Given the description of an element on the screen output the (x, y) to click on. 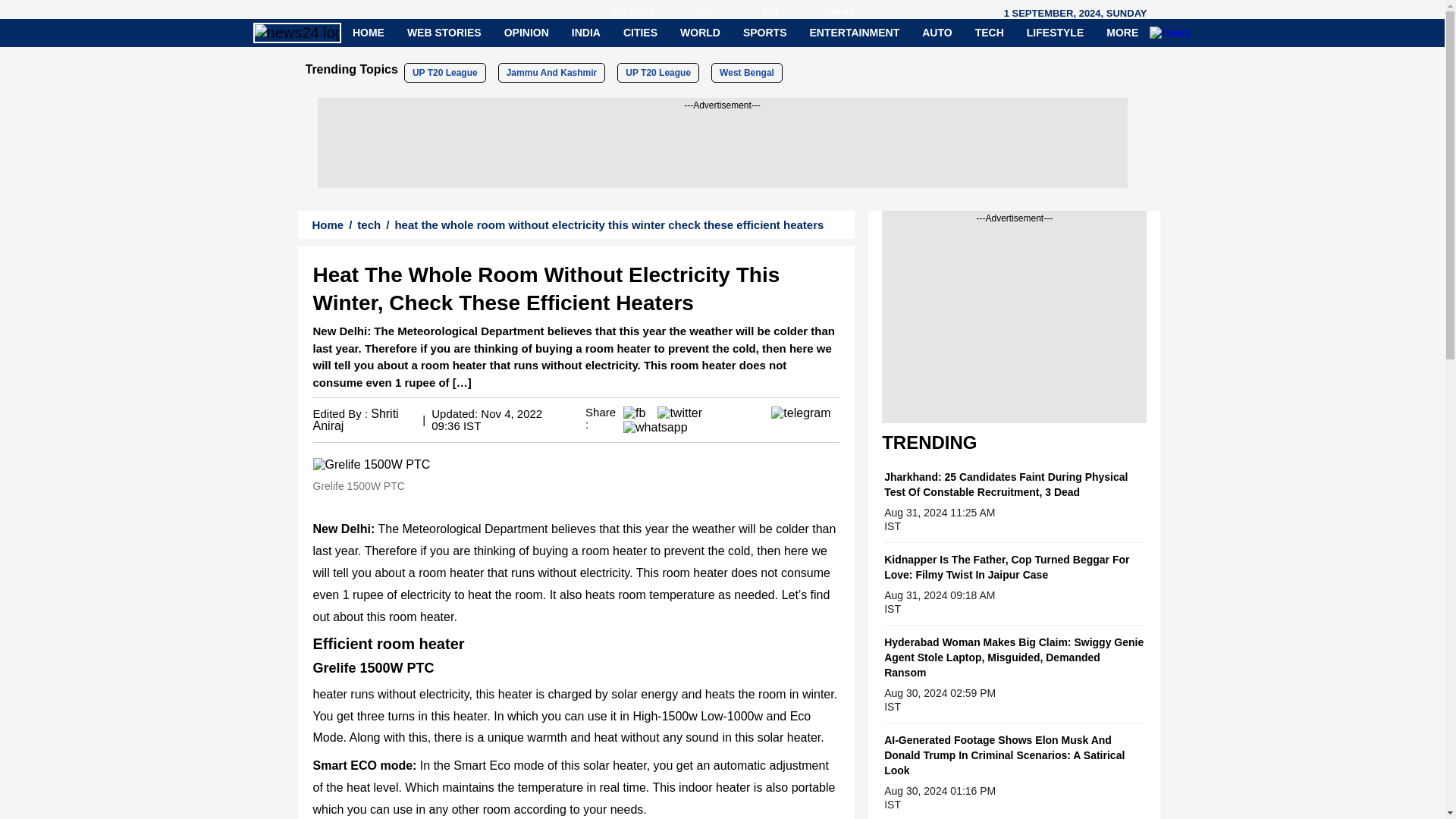
CITIES (639, 32)
heater (371, 464)
HOME (368, 32)
WORLD (700, 32)
INDIA (585, 32)
E24 (744, 4)
Isomes (814, 4)
ENGLISH (601, 4)
WEB STORIES (444, 32)
SPORTS (764, 32)
